Given the description of an element on the screen output the (x, y) to click on. 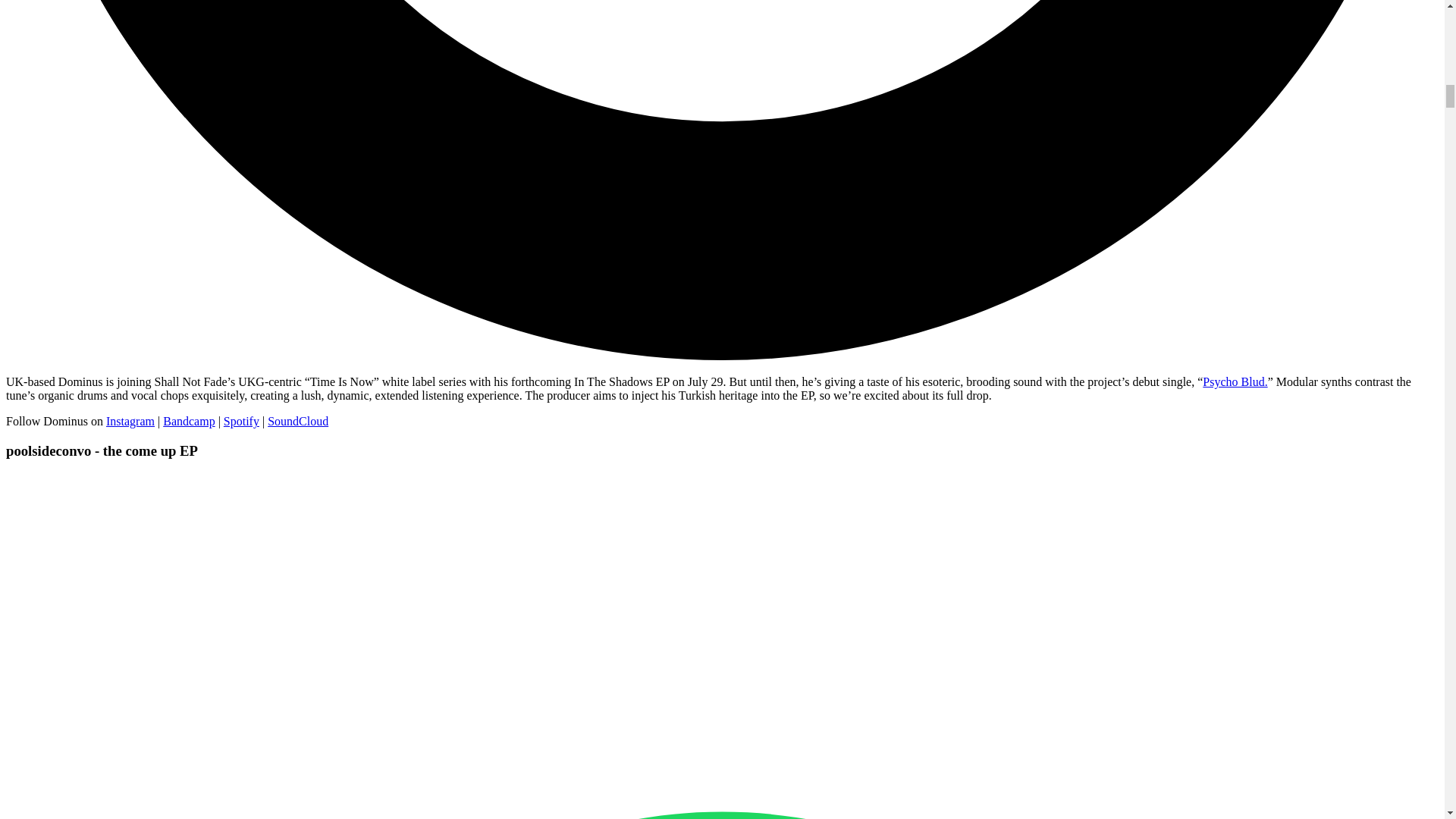
Bandcamp (188, 420)
Instagram (130, 420)
SoundCloud (298, 420)
Spotify (241, 420)
Psycho Blud. (1234, 381)
